Given the description of an element on the screen output the (x, y) to click on. 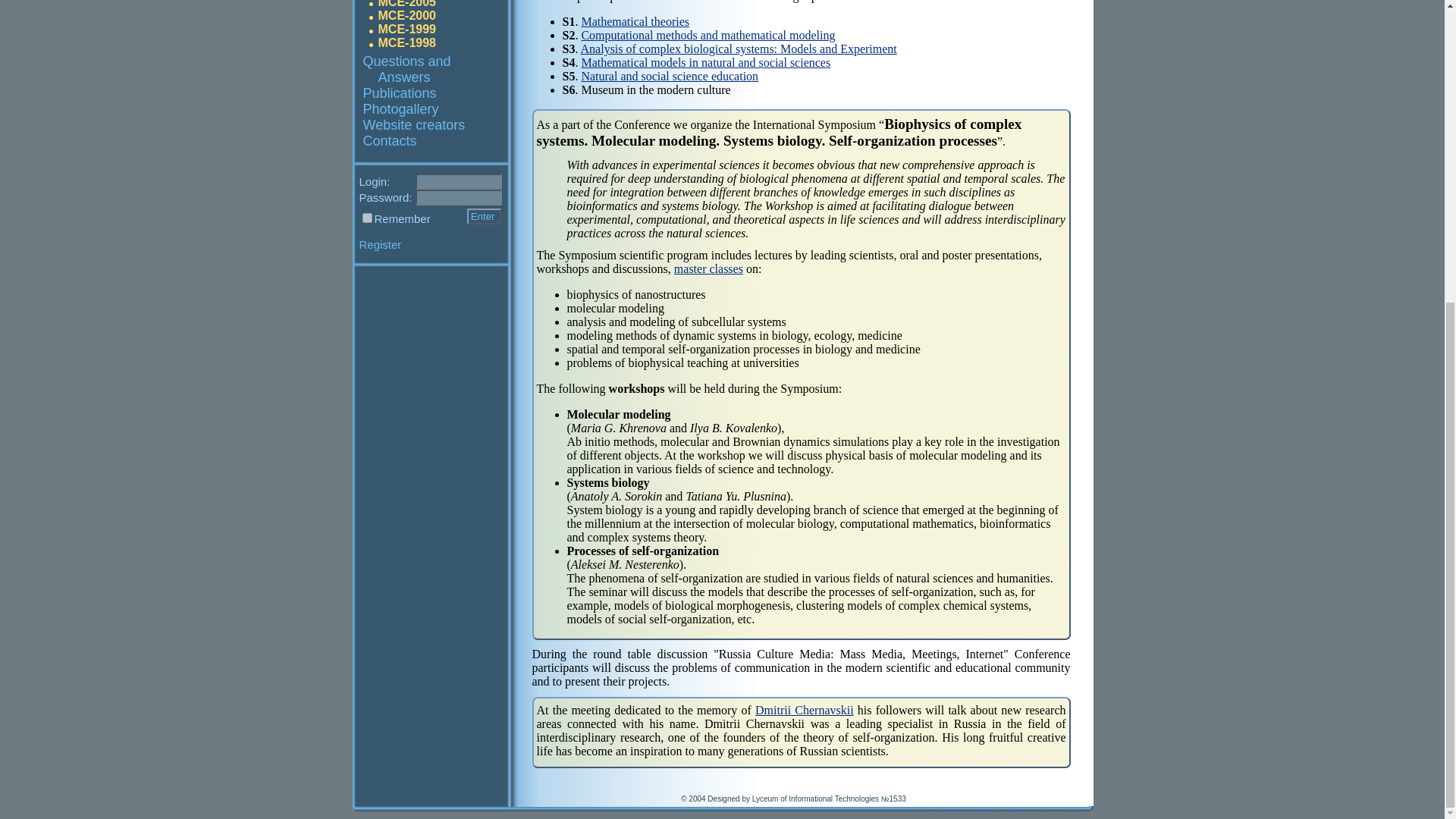
Photogallery (400, 109)
Contacts (389, 140)
Publications (398, 92)
MCE-1998 (406, 42)
Register (380, 244)
Enter (483, 216)
Enter (483, 216)
Website creators (413, 124)
1 (367, 217)
MCE-2000 (406, 15)
Questions and Answers (405, 69)
MCE-1999 (406, 29)
MCE-2005 (406, 4)
